Given the description of an element on the screen output the (x, y) to click on. 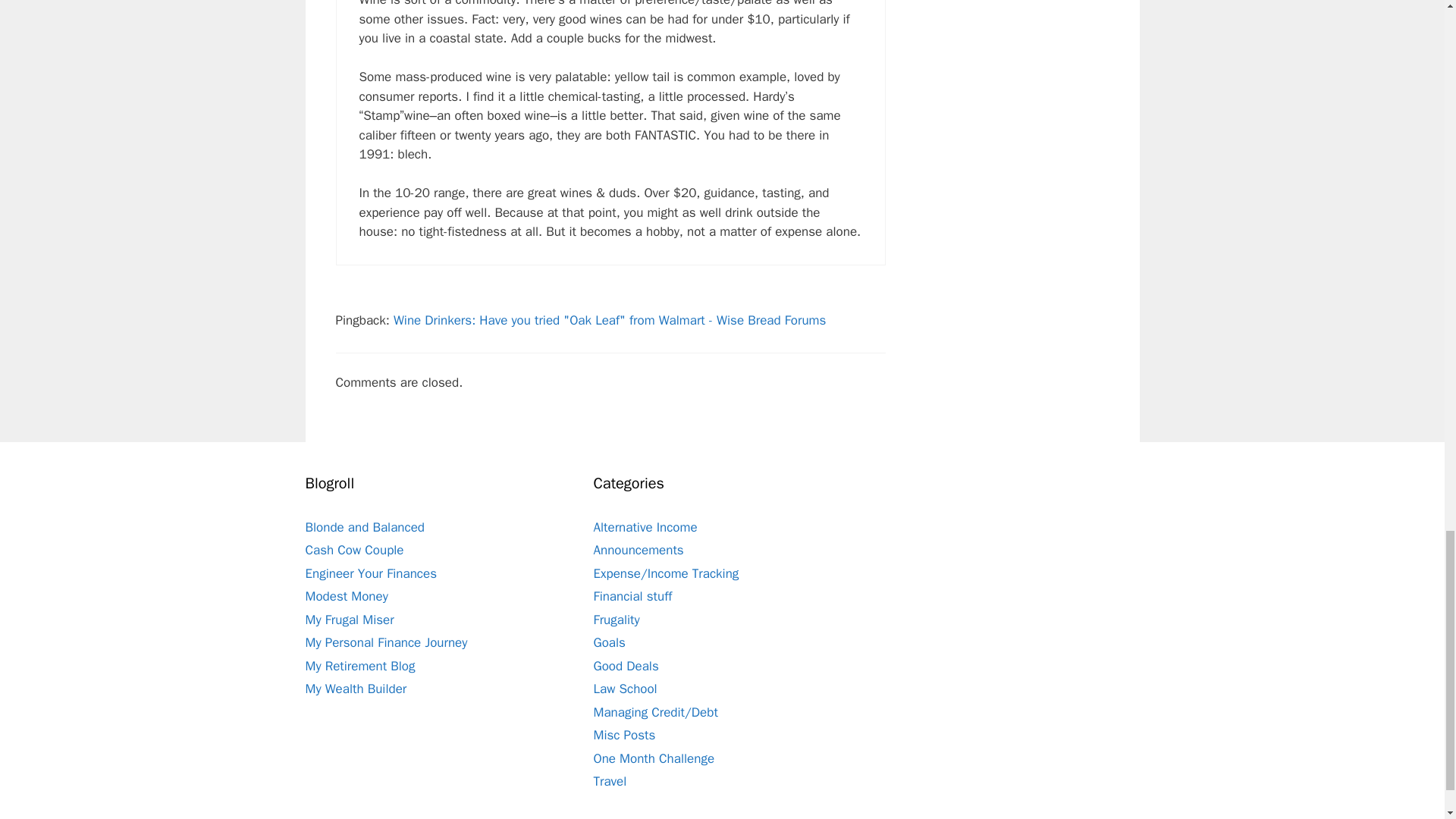
Modest Money (345, 596)
My Wealth Builder (355, 688)
Blonde and Balanced (364, 527)
Engineer Your Finances (370, 573)
Alternative Income (644, 527)
My Retirement Blog (359, 666)
Announcements (637, 549)
My Personal Finance Journey (385, 642)
My Frugal Miser (348, 619)
